Given the description of an element on the screen output the (x, y) to click on. 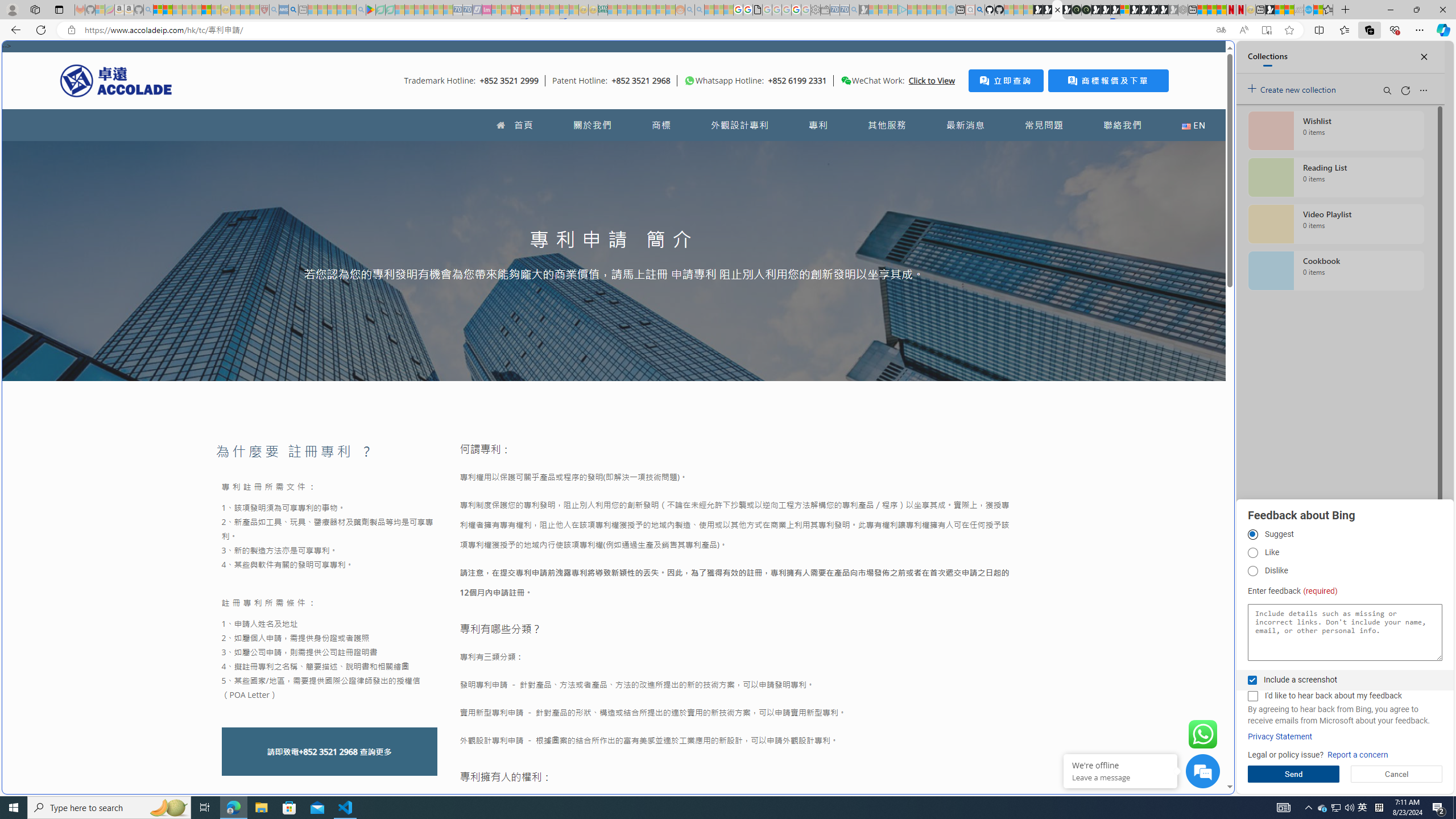
Trusted Community Engagement and Contributions | Guidelines (525, 9)
MSN (1269, 9)
Bing Real Estate - Home sales and rental listings - Sleeping (853, 9)
Privacy Statement (1280, 737)
Play Cave FRVR in your browser | Games from Microsoft Start (922, 242)
